Given the description of an element on the screen output the (x, y) to click on. 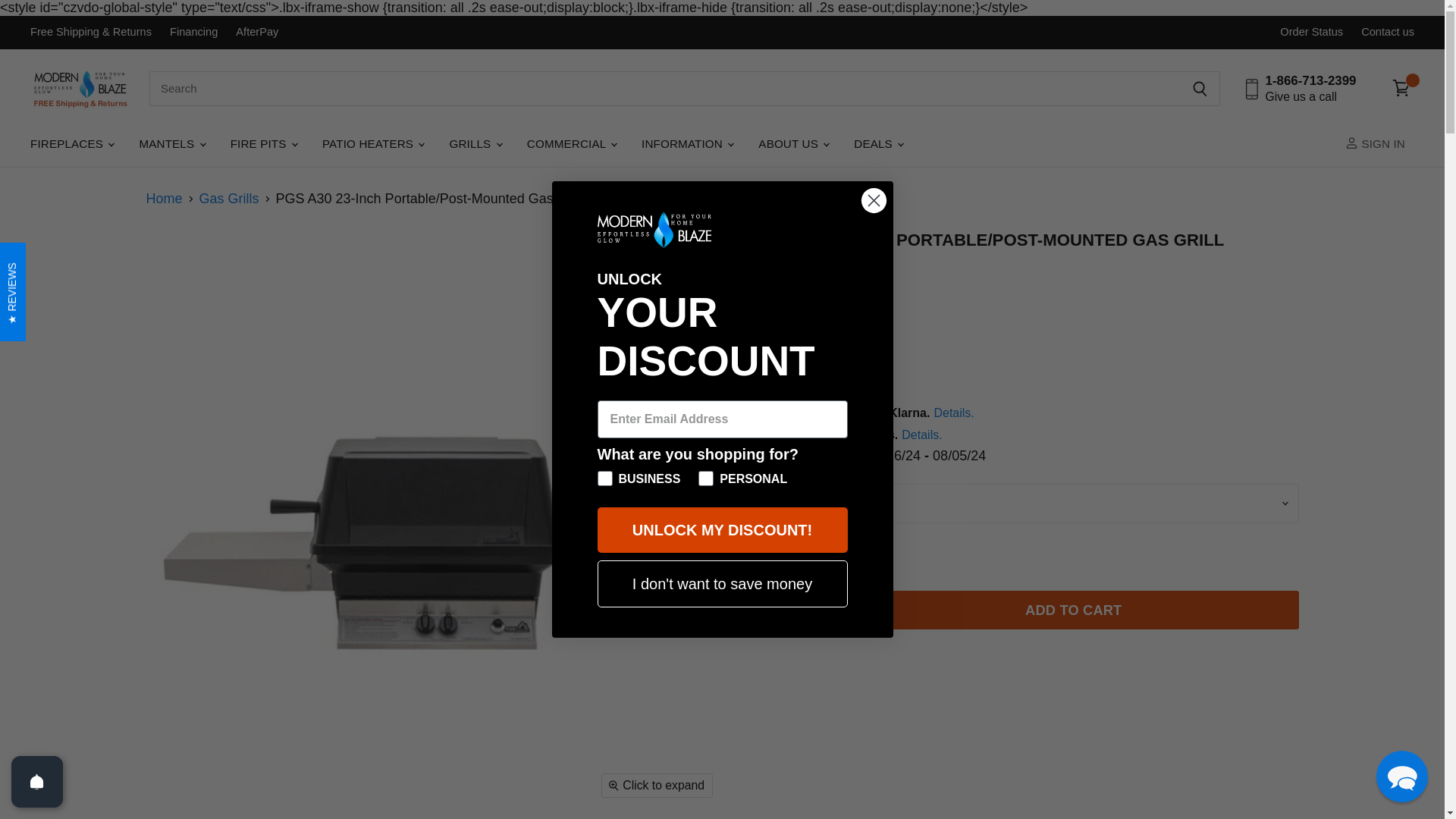
AfterPay (256, 31)
ACCOUNT ICON (1351, 142)
Gas Grills (229, 198)
View cart (1403, 87)
Order Status (1310, 31)
FIREPLACES (70, 143)
Financing (193, 31)
Contact us (1387, 31)
